Given the description of an element on the screen output the (x, y) to click on. 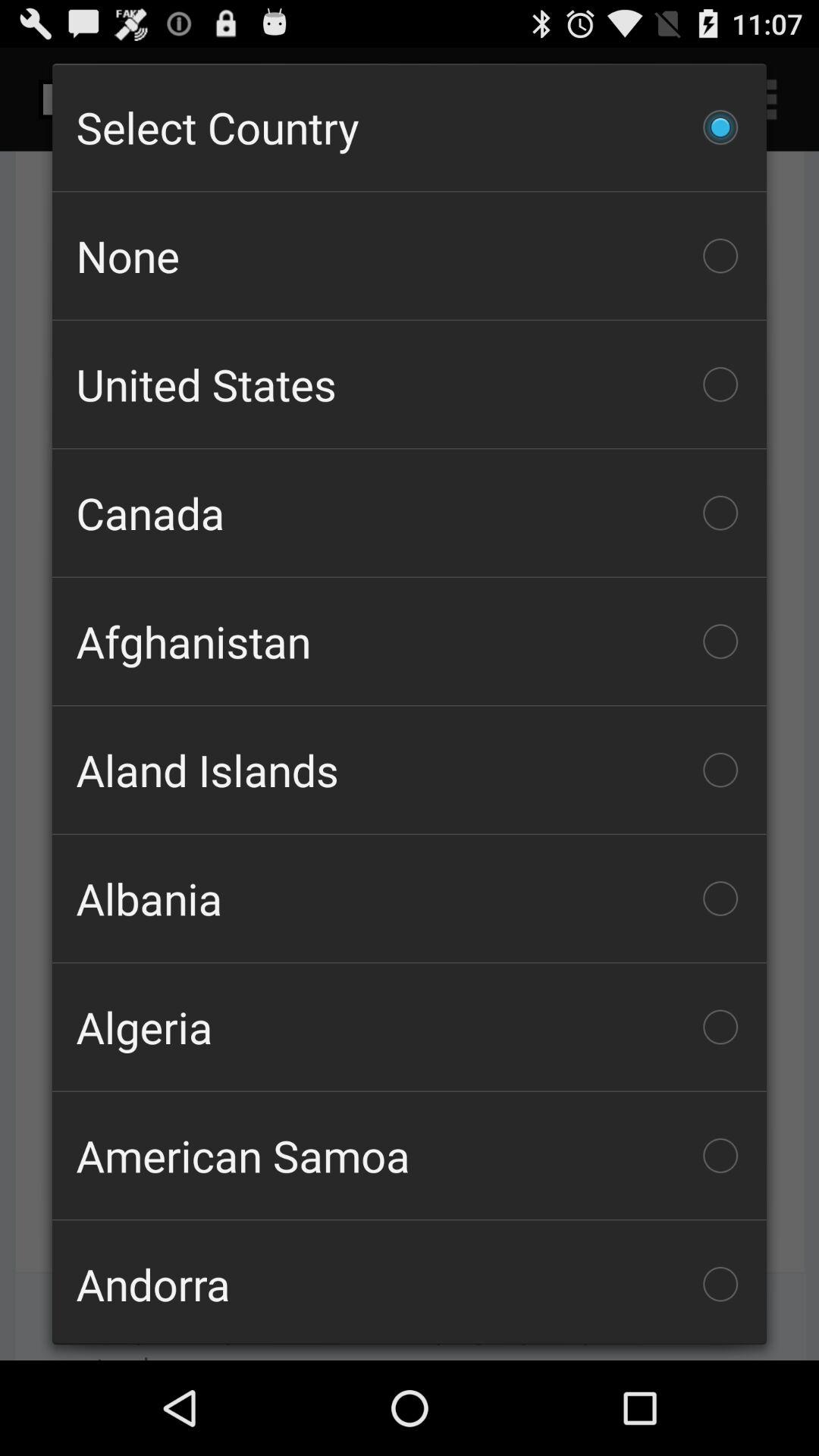
open checkbox above albania (409, 769)
